Given the description of an element on the screen output the (x, y) to click on. 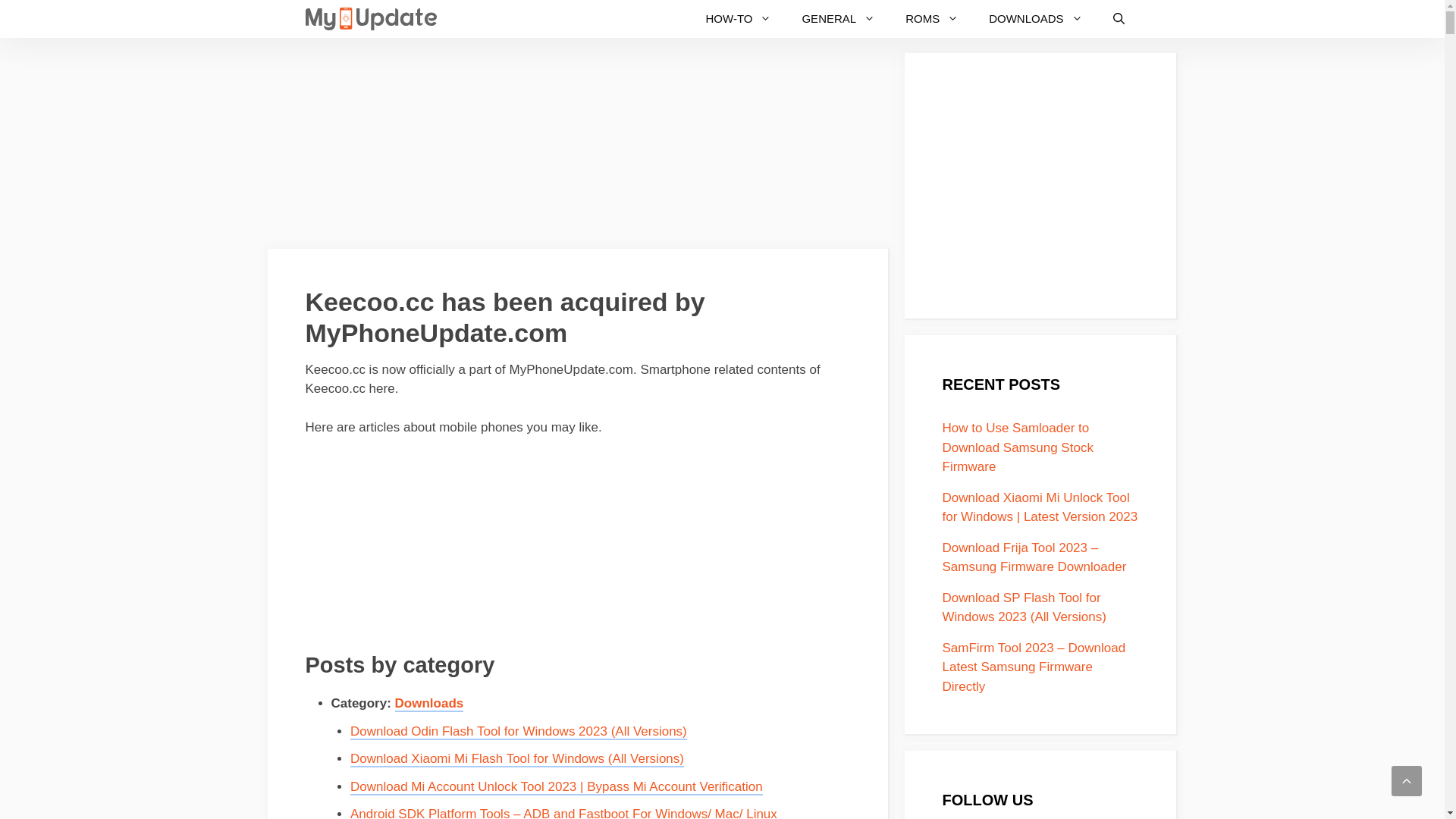
MyPhoneUpdate Element type: hover (370, 18)
Scroll back to top Element type: hover (1406, 780)
DOWNLOADS Element type: text (1035, 18)
Downloads Element type: text (429, 704)
Download Xiaomi Mi Flash Tool for Windows (All Versions) Element type: text (517, 759)
HOW-TO Element type: text (738, 18)
Download SP Flash Tool for Windows 2023 (All Versions) Element type: text (1023, 606)
How to Use Samloader to Download Samsung Stock Firmware Element type: text (1016, 446)
Download Odin Flash Tool for Windows 2023 (All Versions) Element type: text (518, 732)
GENERAL Element type: text (838, 18)
ROMS Element type: text (931, 18)
